Given the description of an element on the screen output the (x, y) to click on. 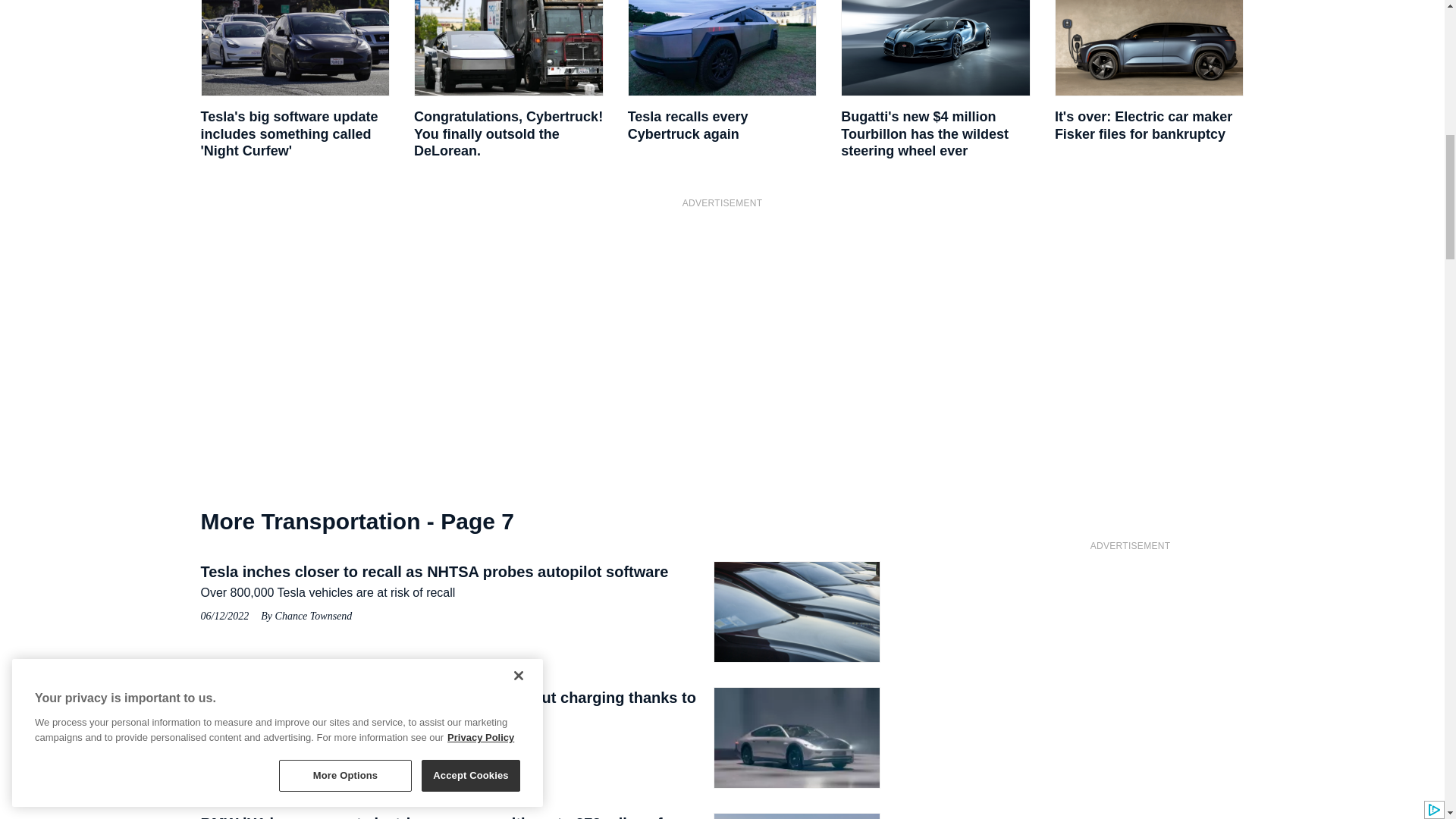
3rd party ad content (721, 313)
